Given the description of an element on the screen output the (x, y) to click on. 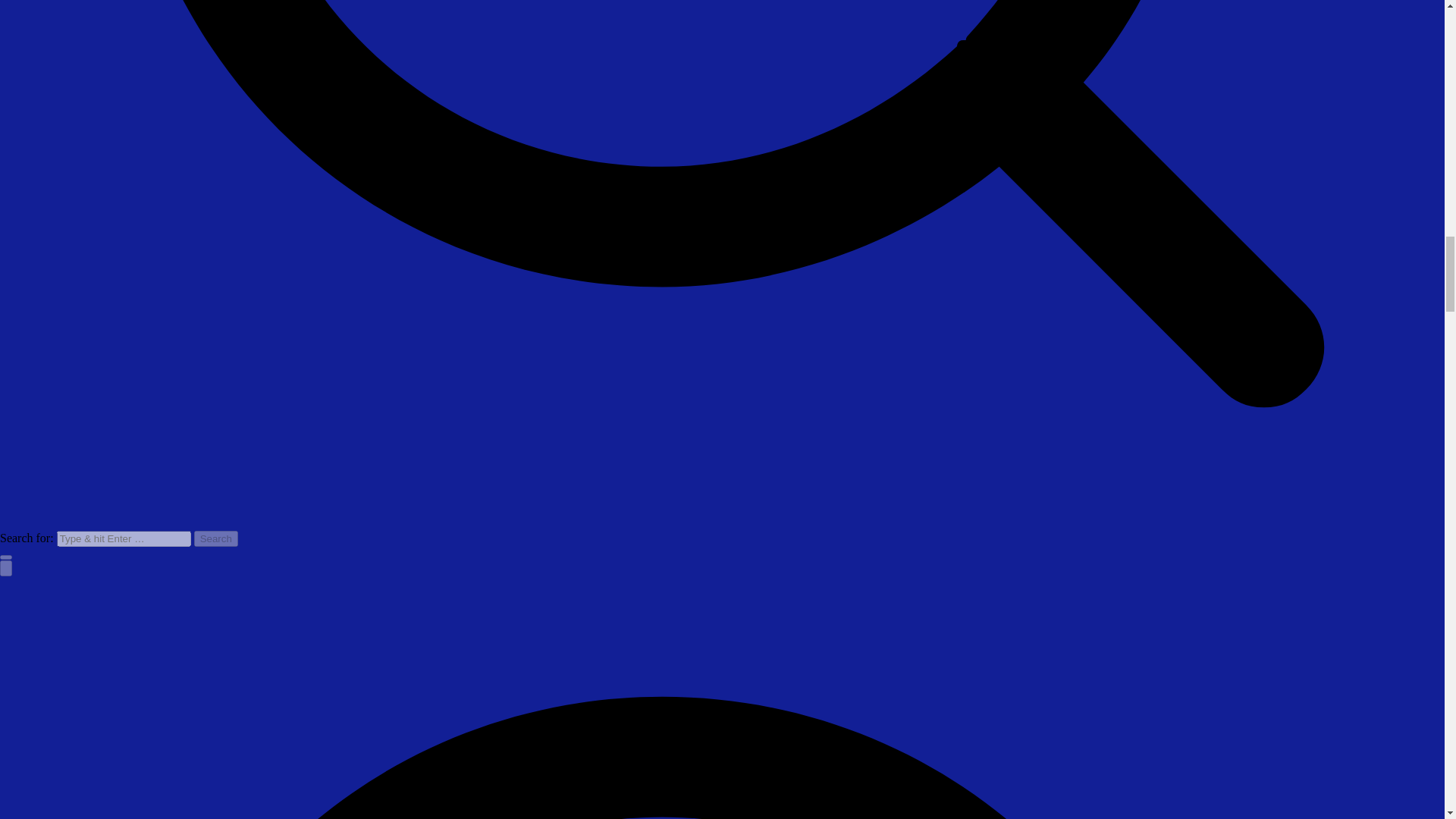
Search (215, 538)
Search (215, 538)
Search for: (123, 538)
Search (215, 538)
